Given the description of an element on the screen output the (x, y) to click on. 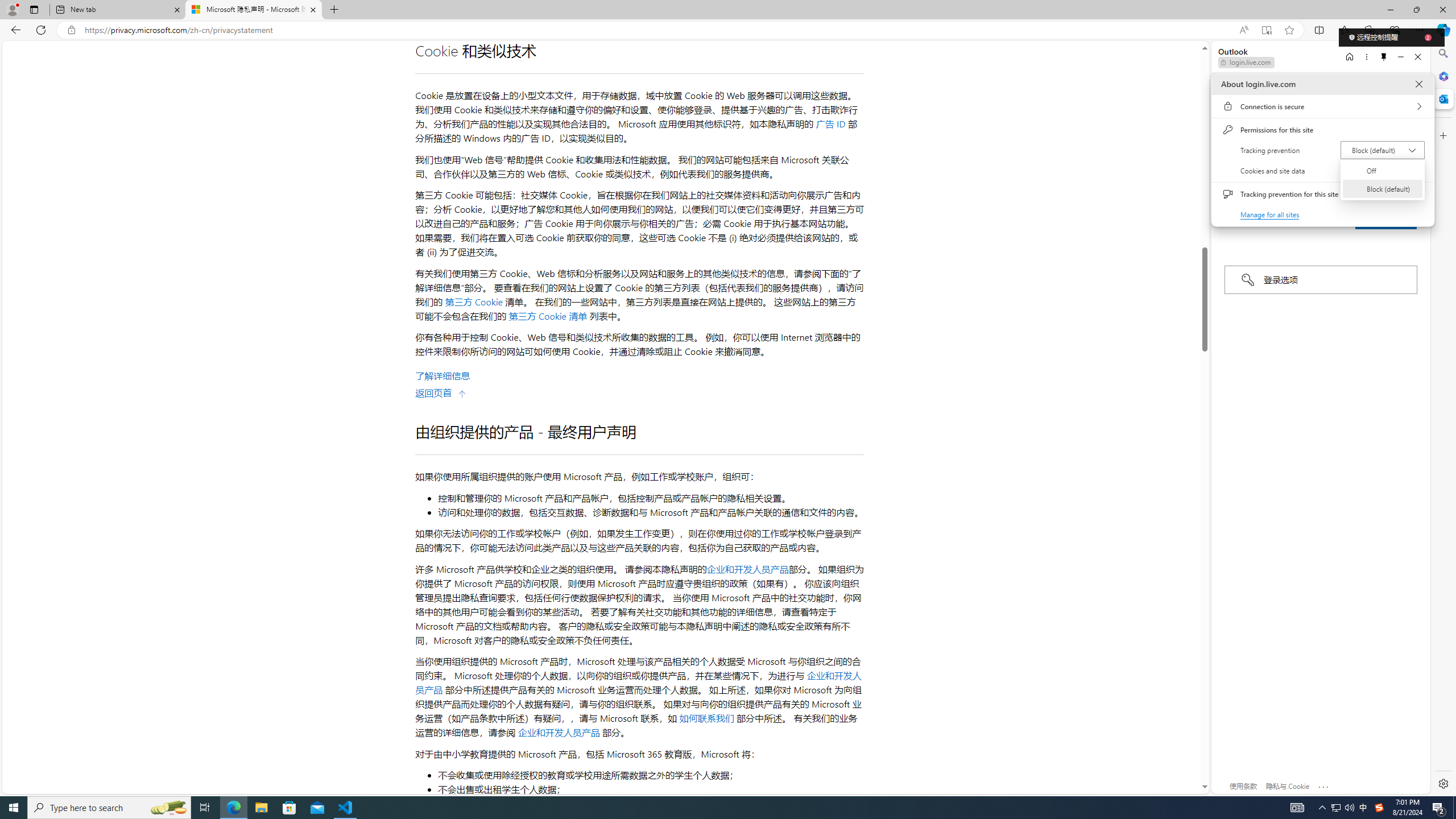
Microsoft Store (289, 807)
Close (1418, 83)
Search highlights icon opens search home window (167, 807)
Block (default) (1382, 188)
Microsoft Edge - 1 running window (233, 807)
Q2790: 100% (1335, 807)
Tracking prevention Block (default) (1349, 807)
Type here to search (1382, 149)
Manage for all sites (108, 807)
Tray Input Indicator - Chinese (Simplified, China) (1270, 214)
Task View (1378, 807)
Start (204, 807)
